Given the description of an element on the screen output the (x, y) to click on. 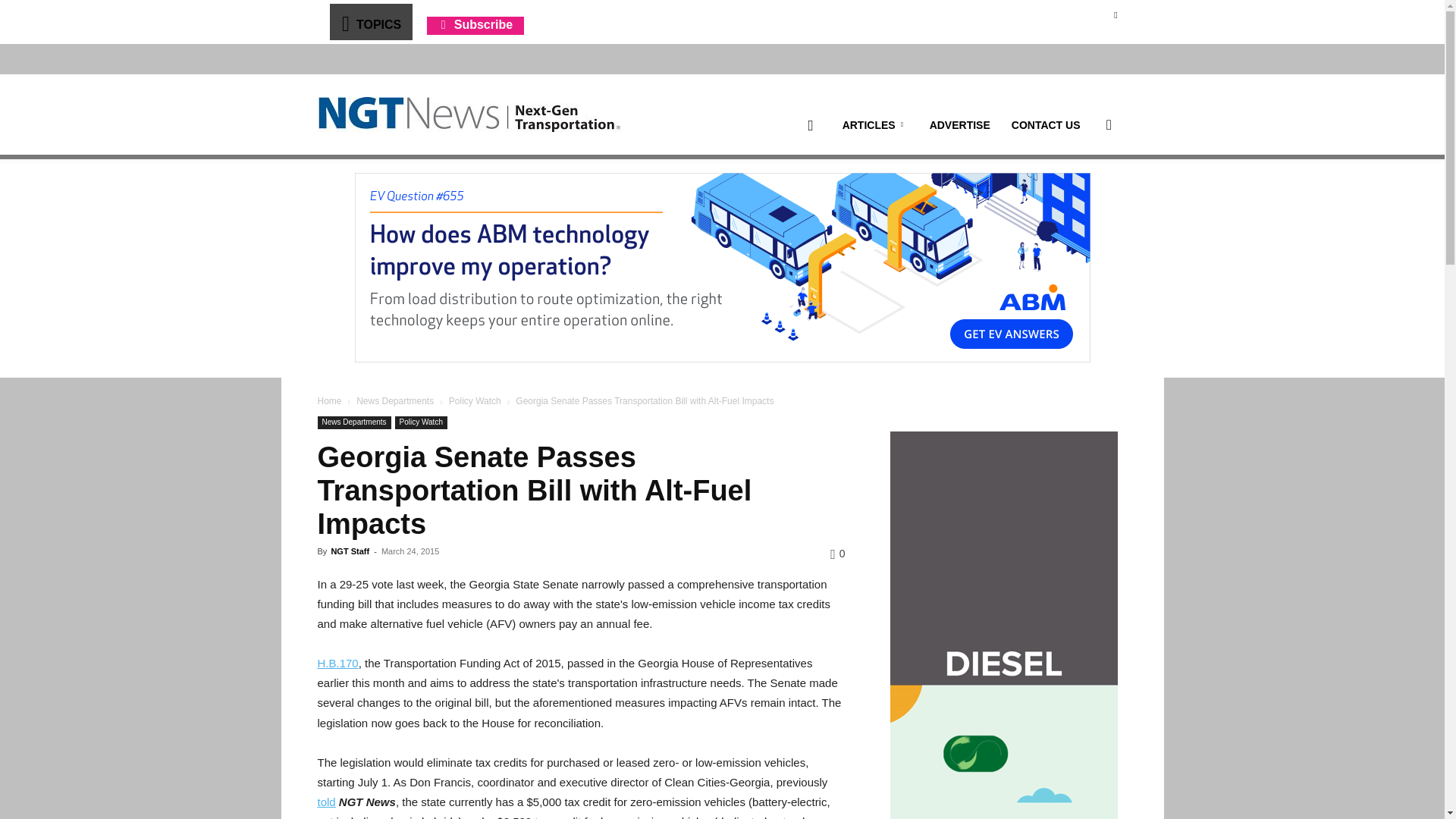
Search (1085, 197)
Twitter (1114, 14)
Alternative Fuel News, CNG News (468, 114)
Subscribe (475, 24)
NGT News (468, 114)
TOPICS (370, 22)
ARTICLES (874, 124)
